Given the description of an element on the screen output the (x, y) to click on. 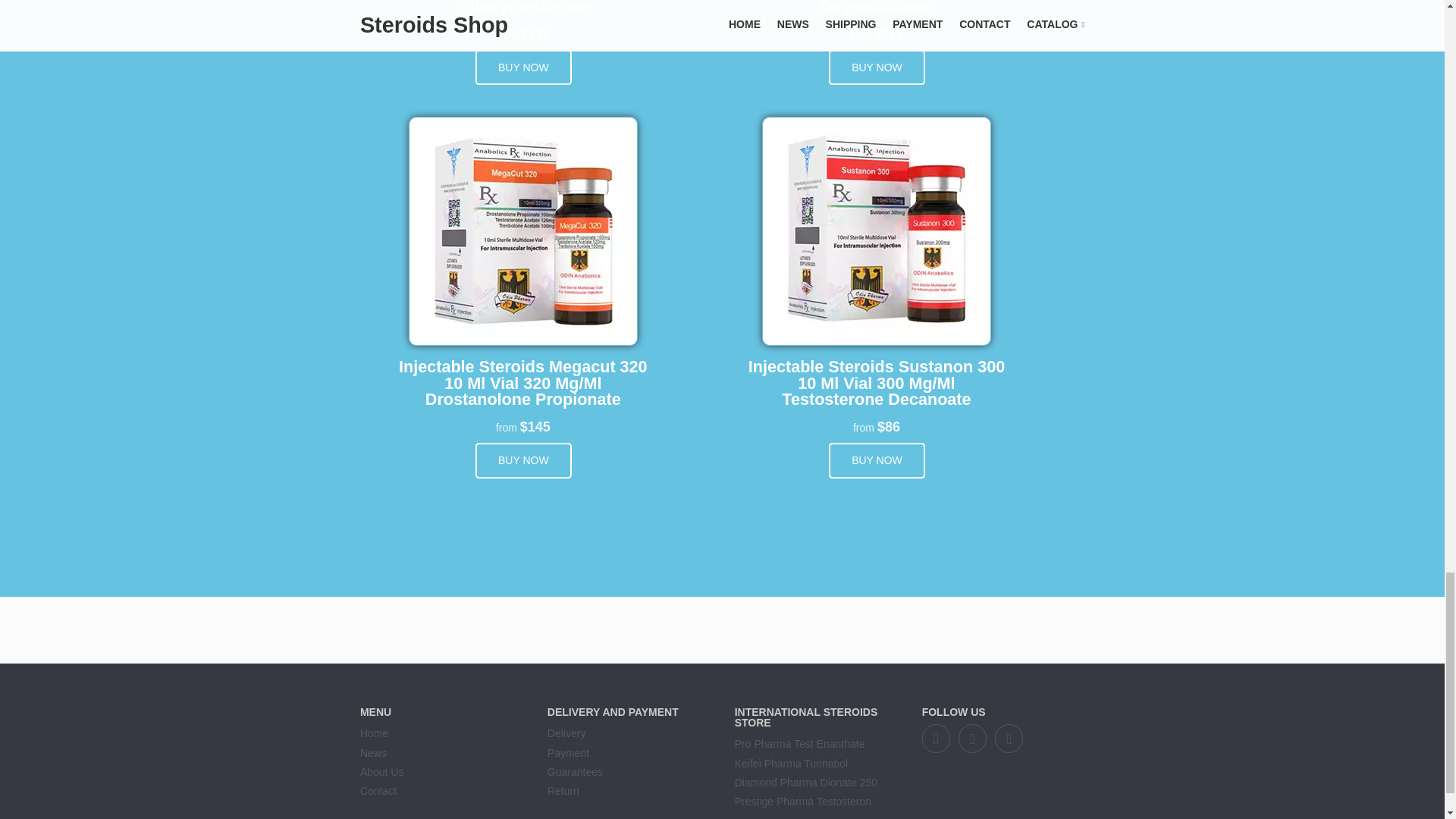
BUY NOW (524, 460)
BUY NOW (524, 67)
BUY NOW (876, 67)
BUY NOW (876, 460)
